Given the description of an element on the screen output the (x, y) to click on. 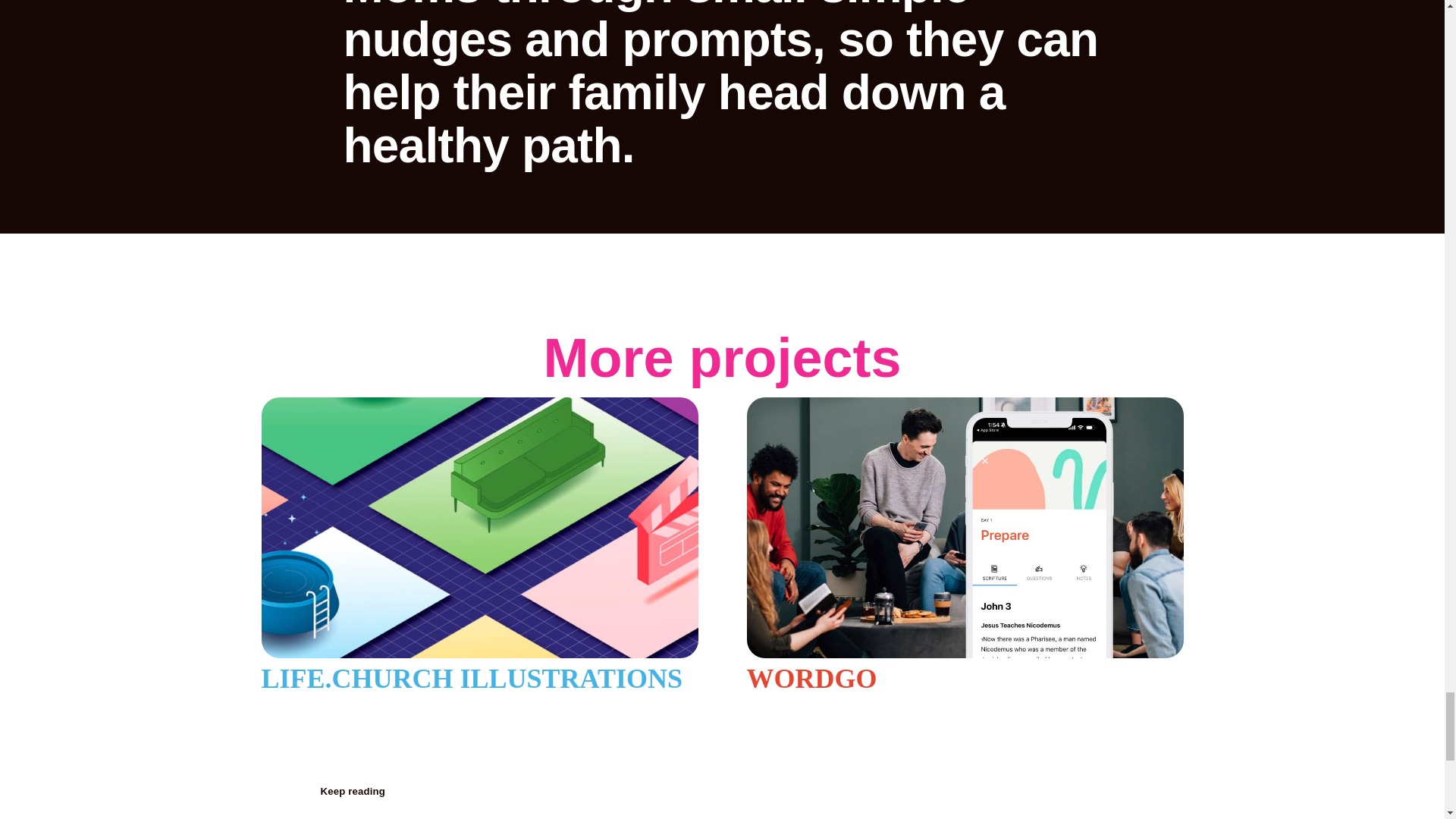
WORDGO (963, 545)
LIFE.CHURCH ILLUSTRATIONS (478, 545)
